Given the description of an element on the screen output the (x, y) to click on. 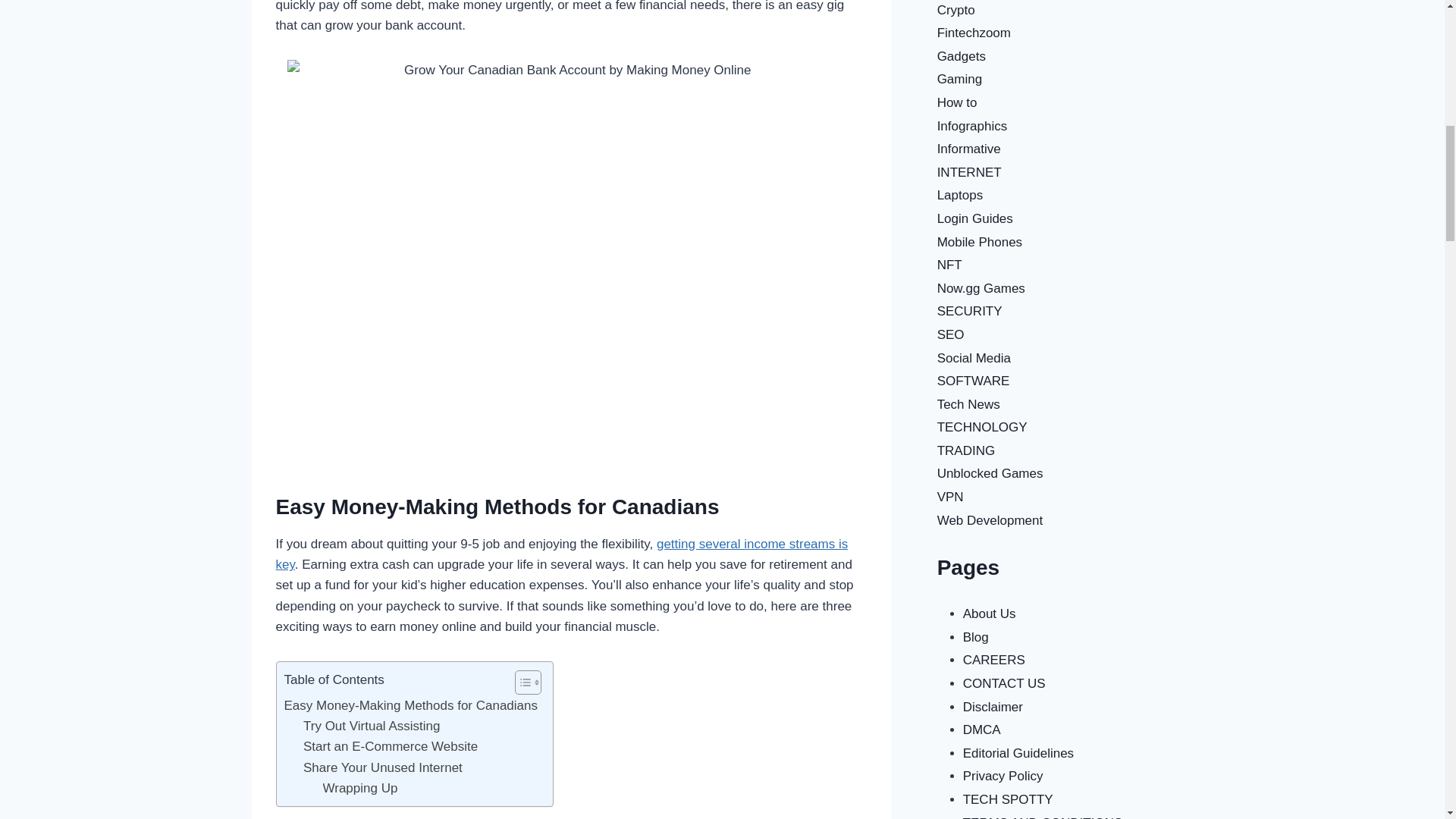
Try Out Virtual Assisting (370, 725)
Start an E-Commerce Website (389, 746)
Share Your Unused Internet (382, 767)
Wrapping Up (360, 788)
Easy Money-Making Methods for Canadians (410, 705)
